Given the description of an element on the screen output the (x, y) to click on. 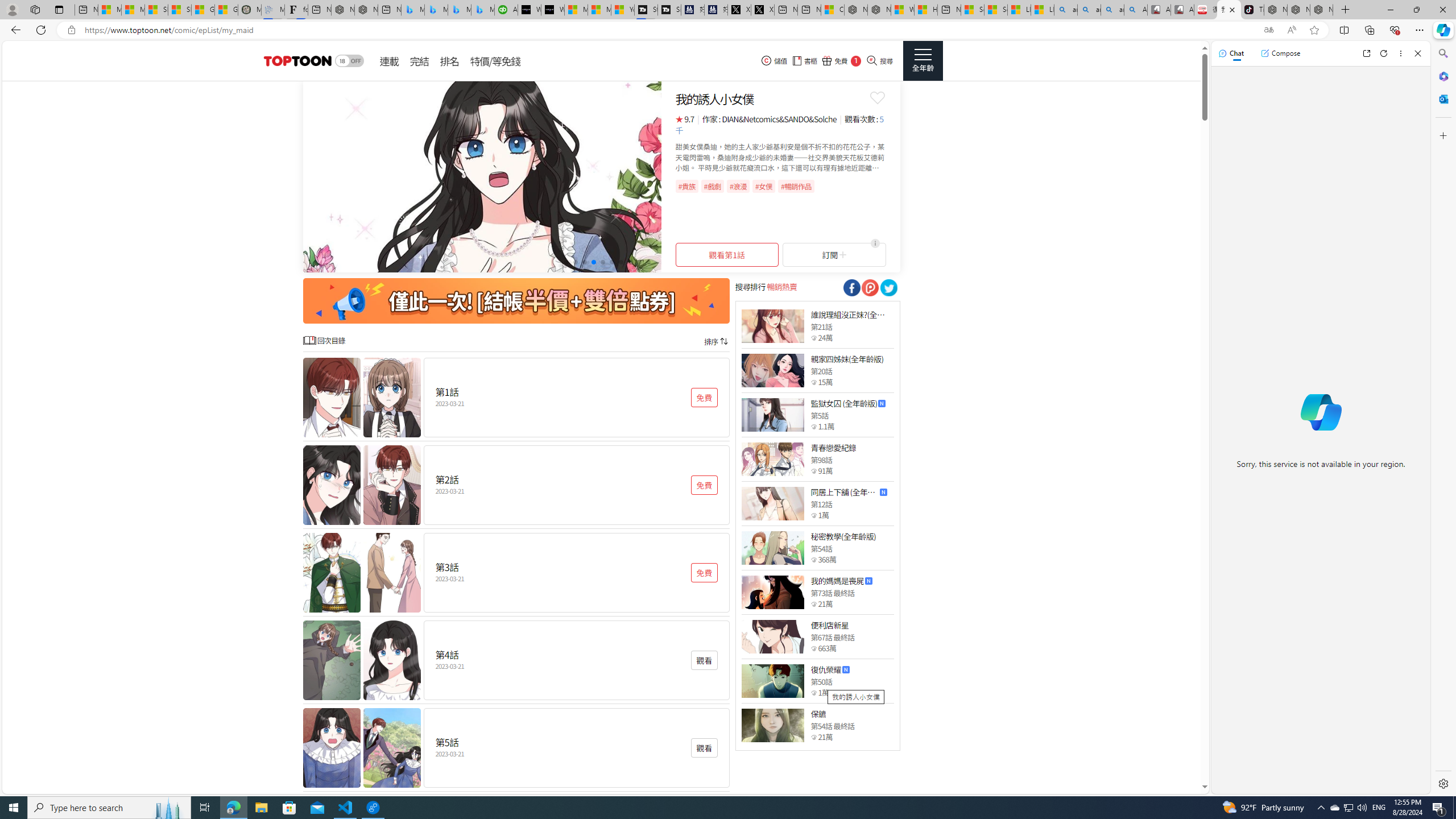
Nordace - Summer Adventures 2024 (879, 9)
Class: swiper-slide swiper-slide-duplicate (481, 176)
Amazon Echo Robot - Search Images (1135, 9)
X (761, 9)
Customize (1442, 135)
Go to slide 10 (647, 261)
